Given the description of an element on the screen output the (x, y) to click on. 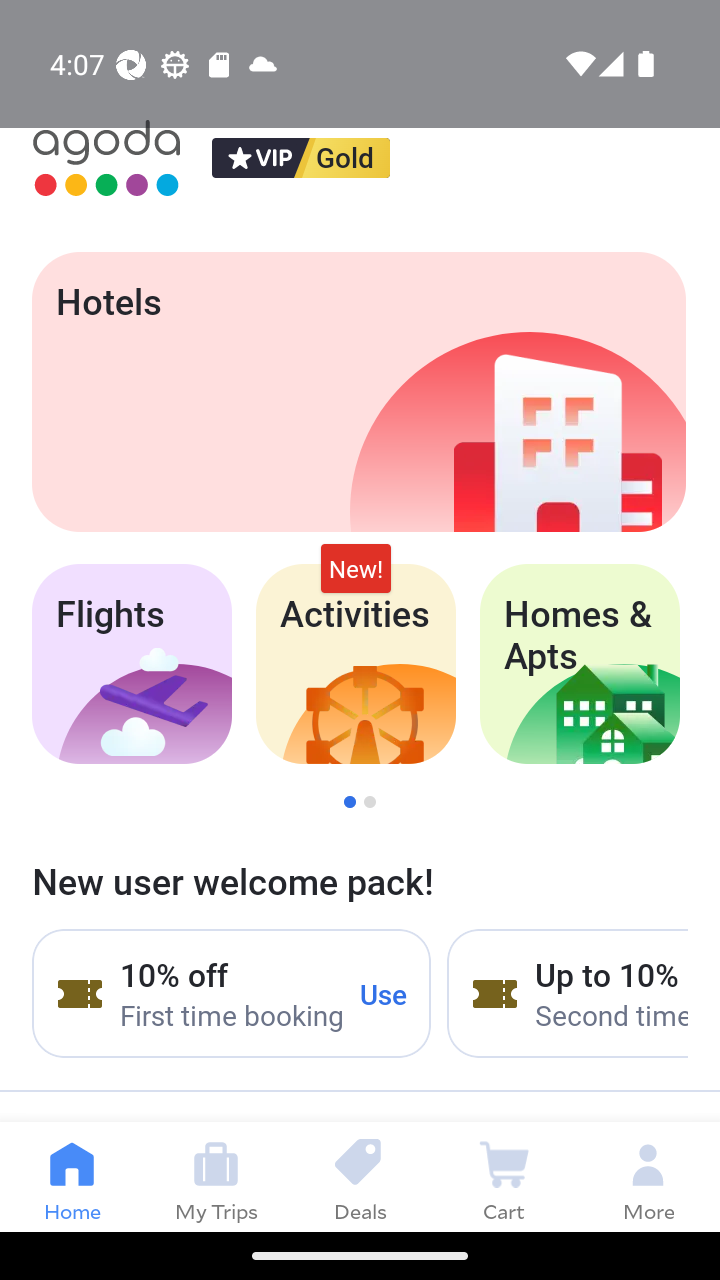
Hotels (358, 392)
New! (355, 568)
Flights (131, 664)
Activities (355, 664)
Homes & Apts (579, 664)
Use (384, 993)
Home (72, 1176)
My Trips (216, 1176)
Deals (360, 1176)
Cart (504, 1176)
More (648, 1176)
